Given the description of an element on the screen output the (x, y) to click on. 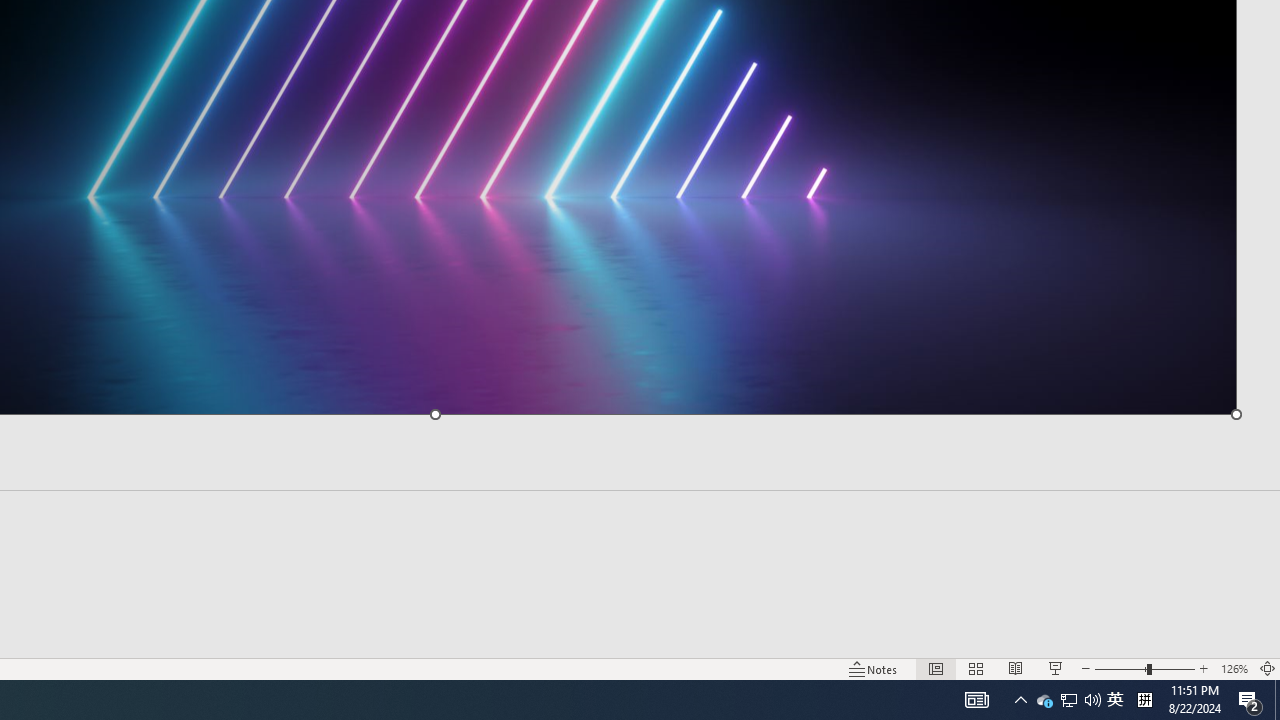
Zoom 126% (1234, 668)
